Given the description of an element on the screen output the (x, y) to click on. 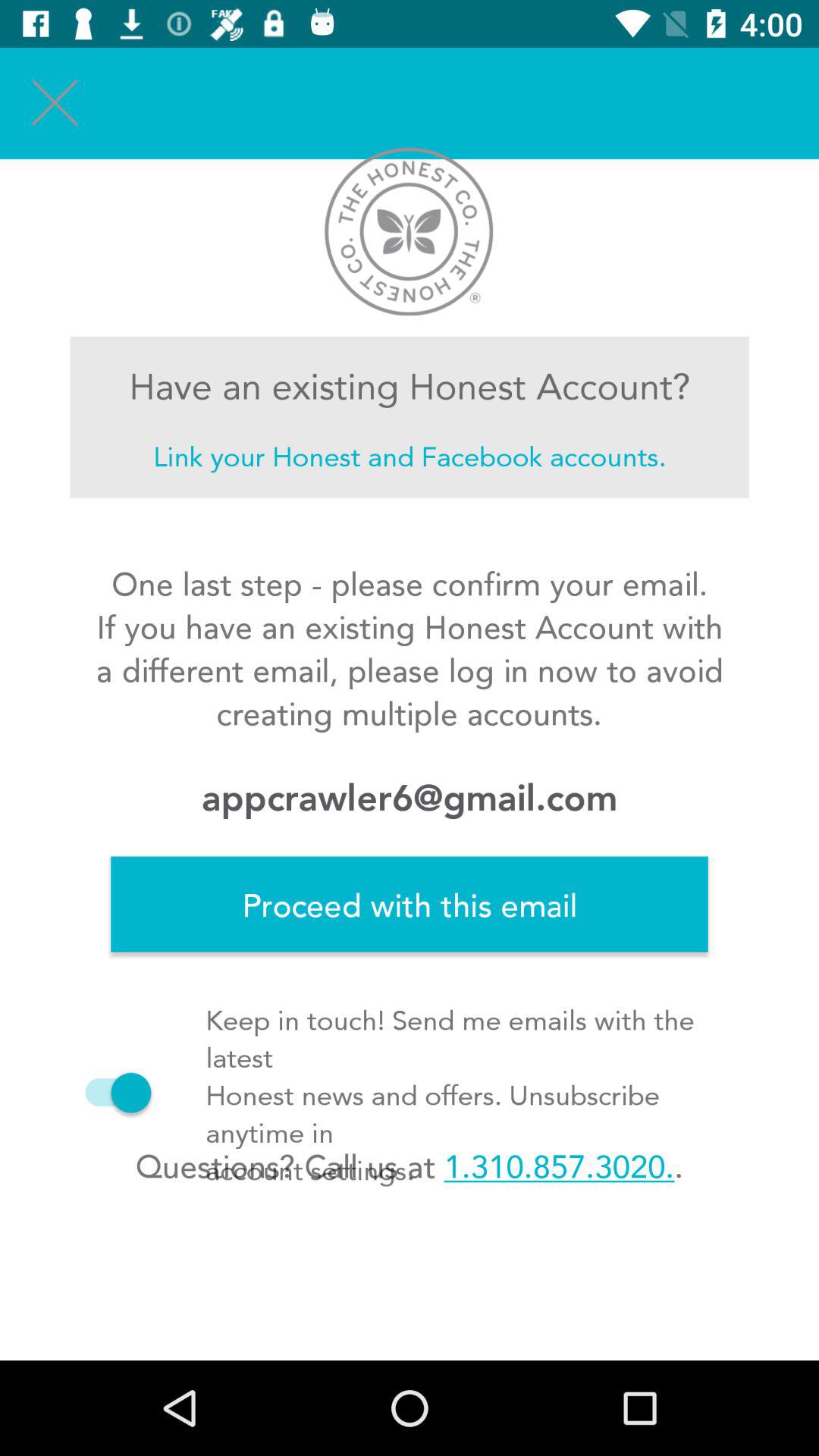
open the item below the appcrawler6@gmail.com item (409, 904)
